Given the description of an element on the screen output the (x, y) to click on. 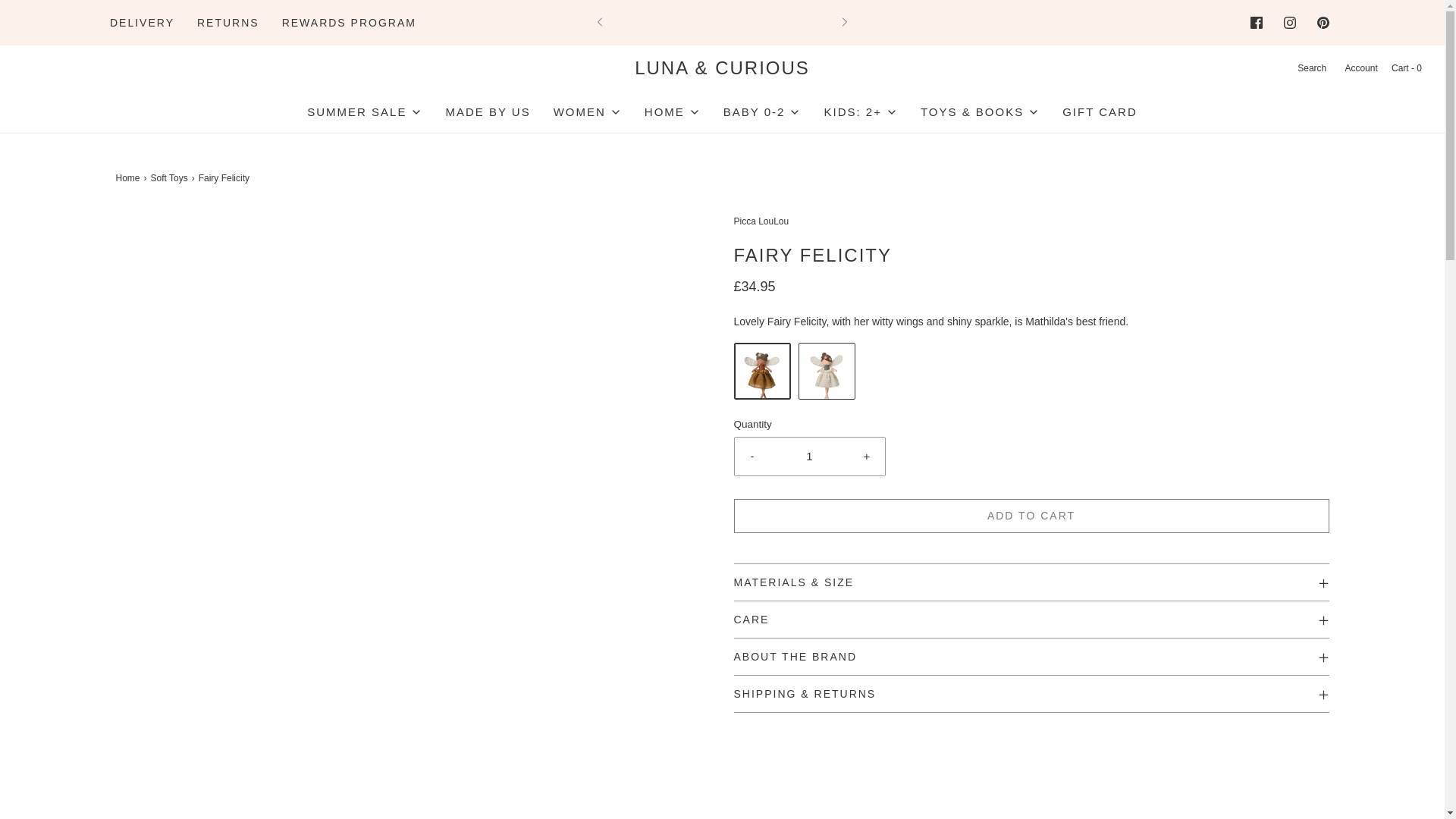
DELIVERY (142, 22)
Log in (1359, 68)
Search (1310, 68)
Back to the frontpage (128, 178)
REWARDS PROGRAM (349, 22)
Cart (1405, 68)
1 (809, 456)
RETURNS (227, 22)
